Given the description of an element on the screen output the (x, y) to click on. 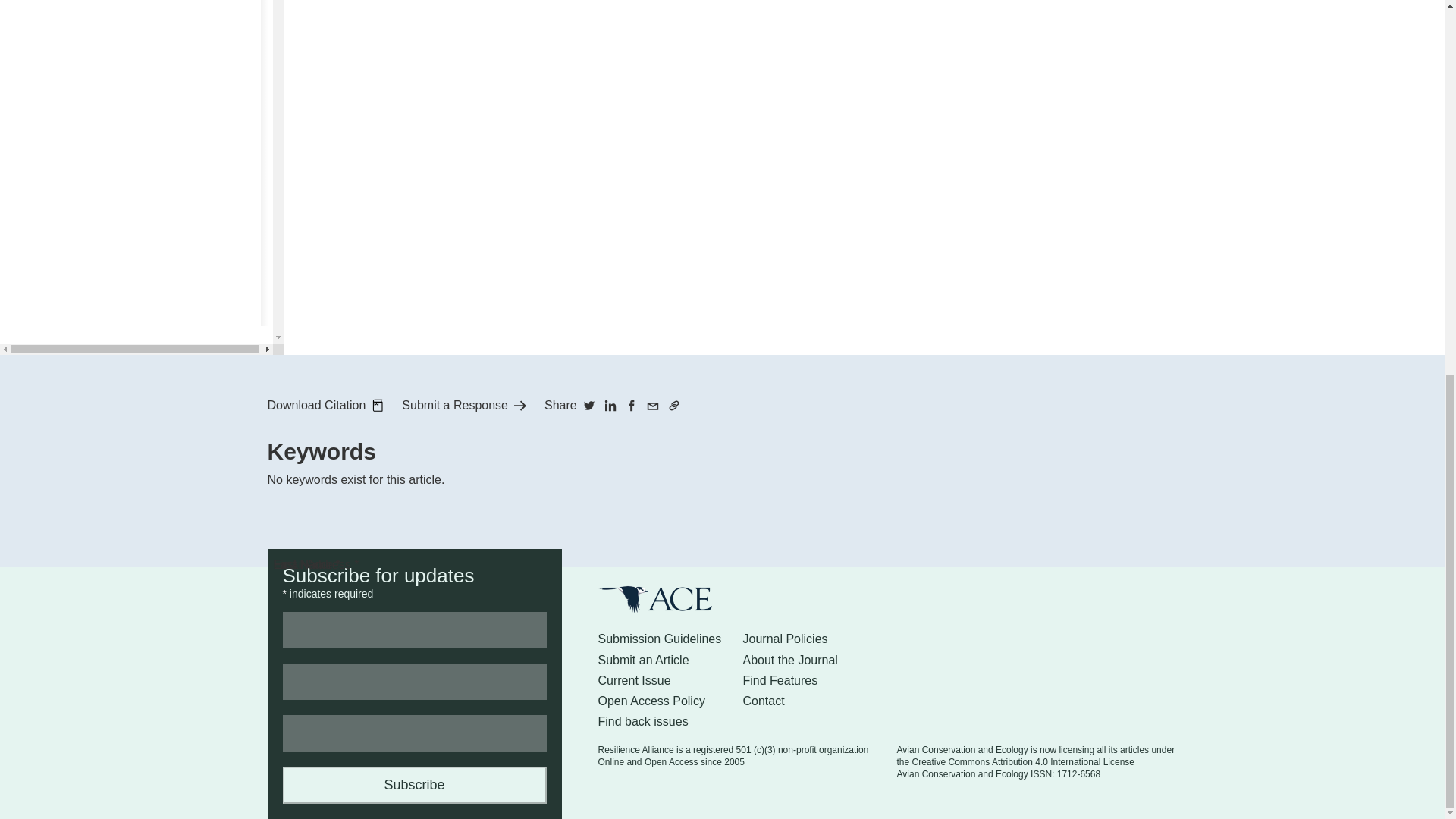
Subscribe (414, 784)
Submit a Response (463, 405)
Journal Policies (785, 638)
Submission Guidelines (658, 638)
Submit an Article (642, 659)
Download Citation (325, 405)
About the Journal (790, 659)
Subscribe (414, 784)
Find back issues (641, 721)
Current Issue (632, 680)
Open Access Policy (650, 700)
